Given the description of an element on the screen output the (x, y) to click on. 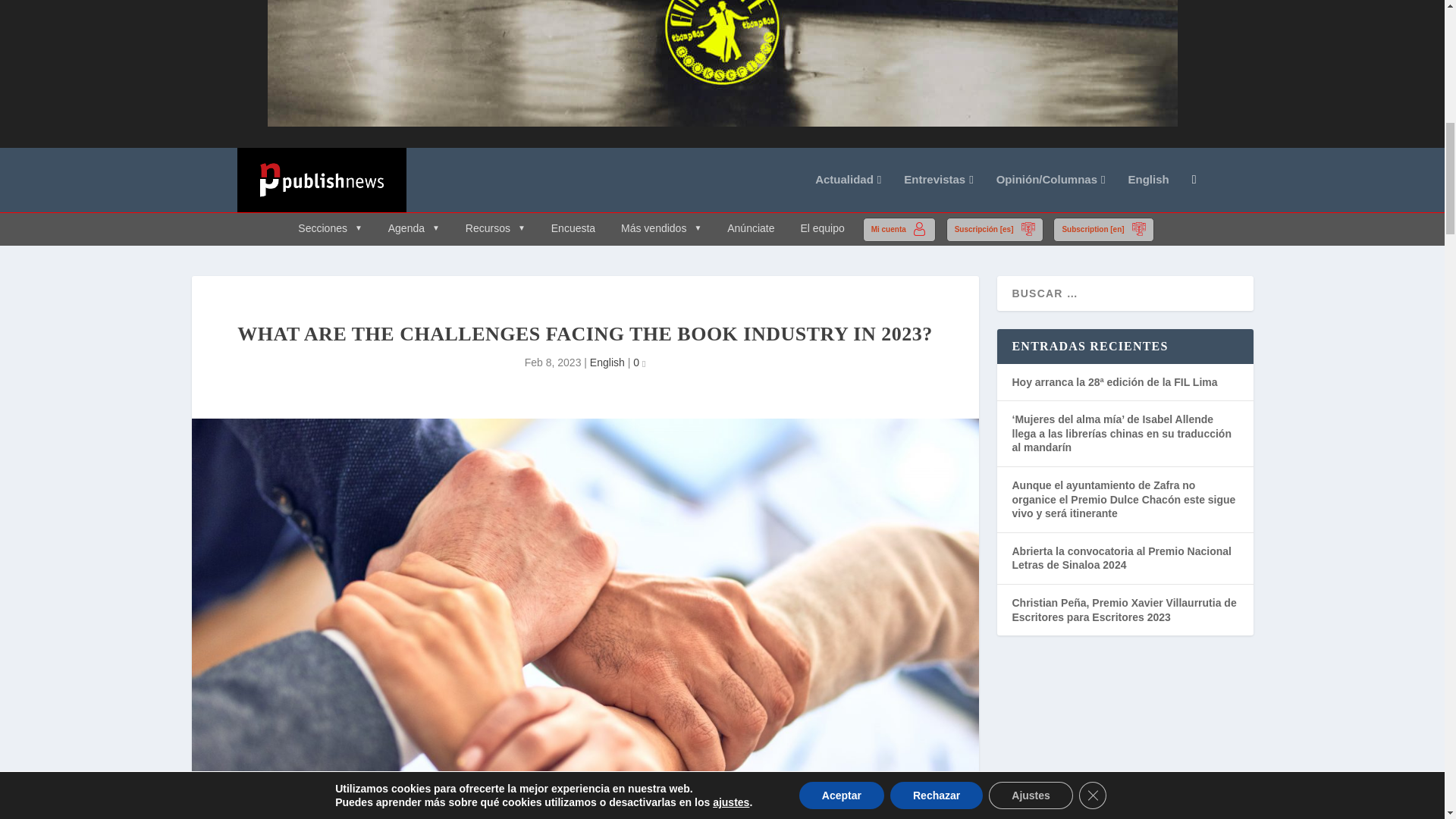
Actualidad (847, 192)
Entrevistas (938, 192)
